Given the description of an element on the screen output the (x, y) to click on. 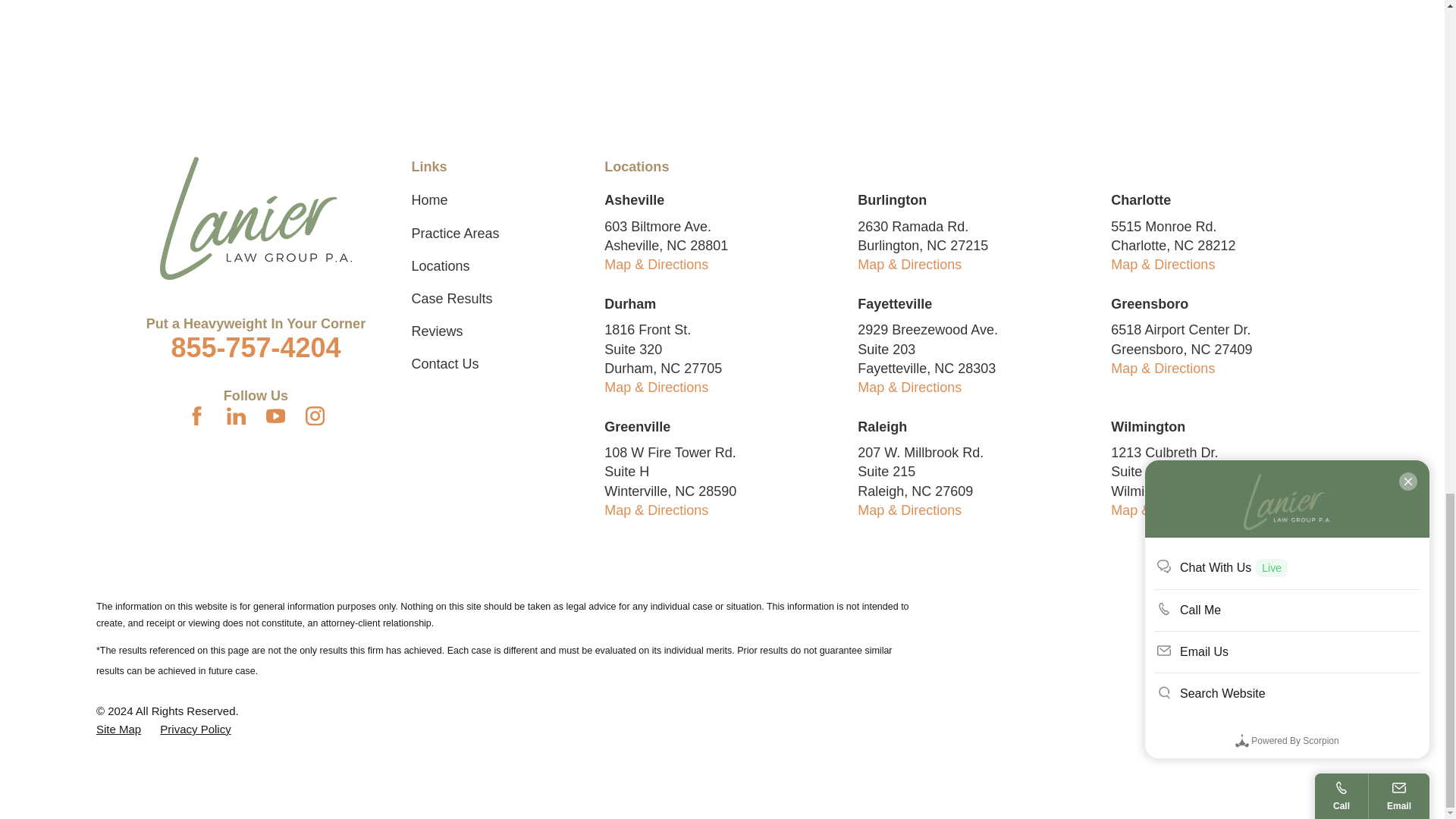
YouTube (275, 415)
Lanier Law Group, P.A. (256, 218)
LinkedIn (236, 415)
Home (256, 218)
Facebook (196, 415)
